Given the description of an element on the screen output the (x, y) to click on. 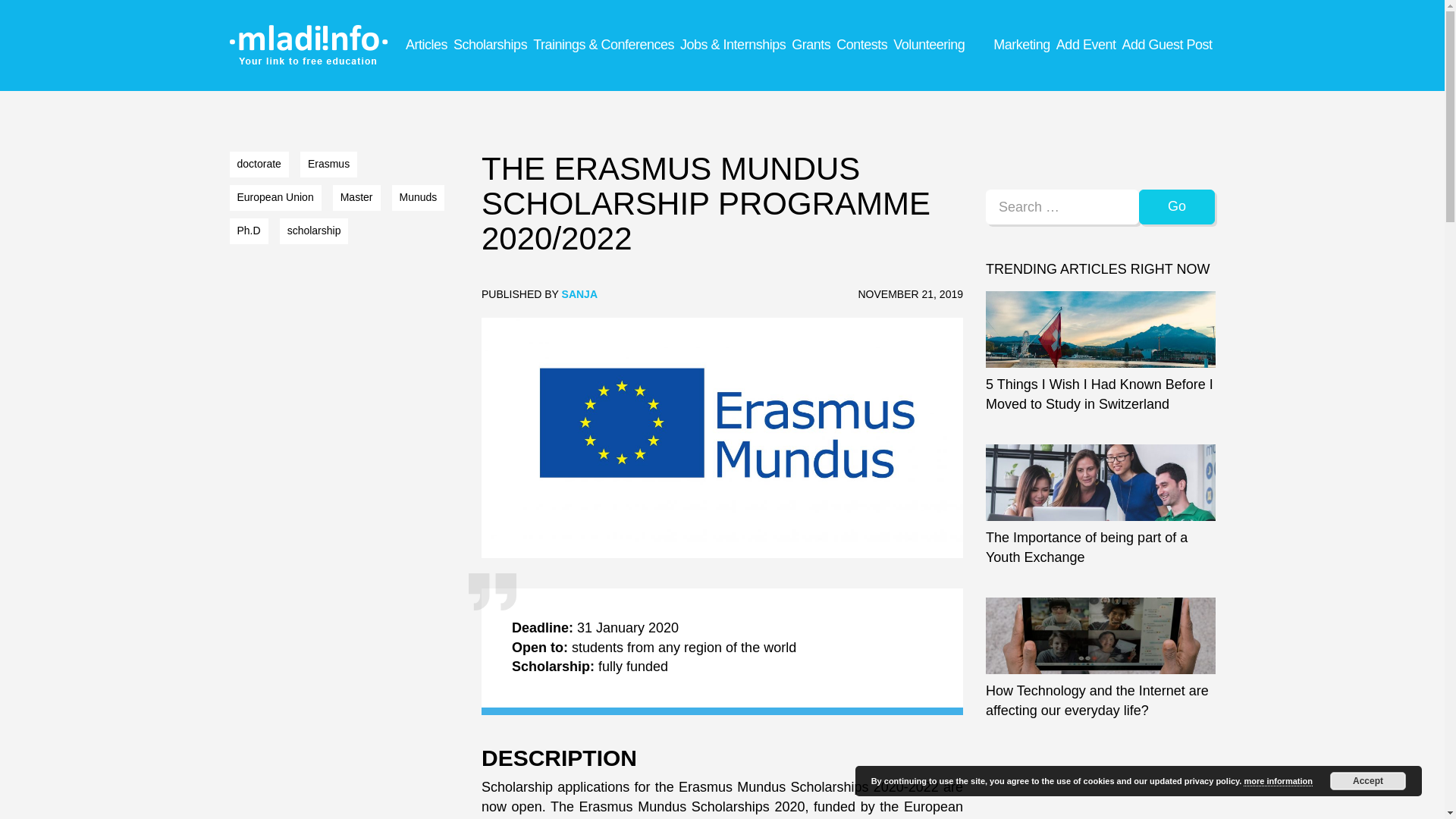
SANJA (579, 294)
Articles (426, 44)
Add Guest Post (1166, 44)
Add Event (1085, 44)
Mladiinfo (308, 39)
Grants (810, 44)
Contests (860, 44)
Go (1176, 206)
Scholarships (489, 44)
9:50 am (909, 294)
NOVEMBER 21, 2019 (909, 294)
Volunteering (928, 44)
Go (1176, 206)
View all posts by sanja (579, 294)
Marketing (1021, 44)
